Given the description of an element on the screen output the (x, y) to click on. 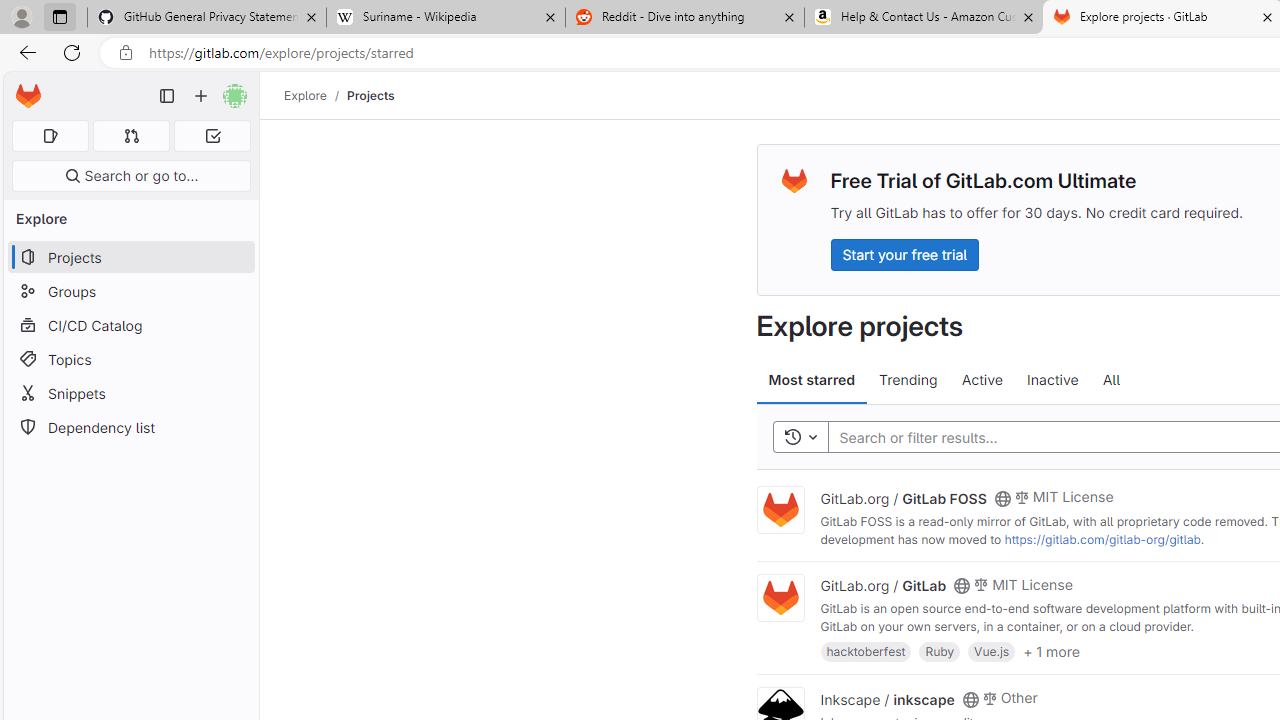
Topics (130, 358)
Groups (130, 291)
Groups (130, 291)
Class: project (780, 597)
Inkscape / inkscape (887, 698)
Dependency list (130, 427)
Dependency list (130, 427)
Inactive (1052, 379)
Ruby (940, 650)
